Given the description of an element on the screen output the (x, y) to click on. 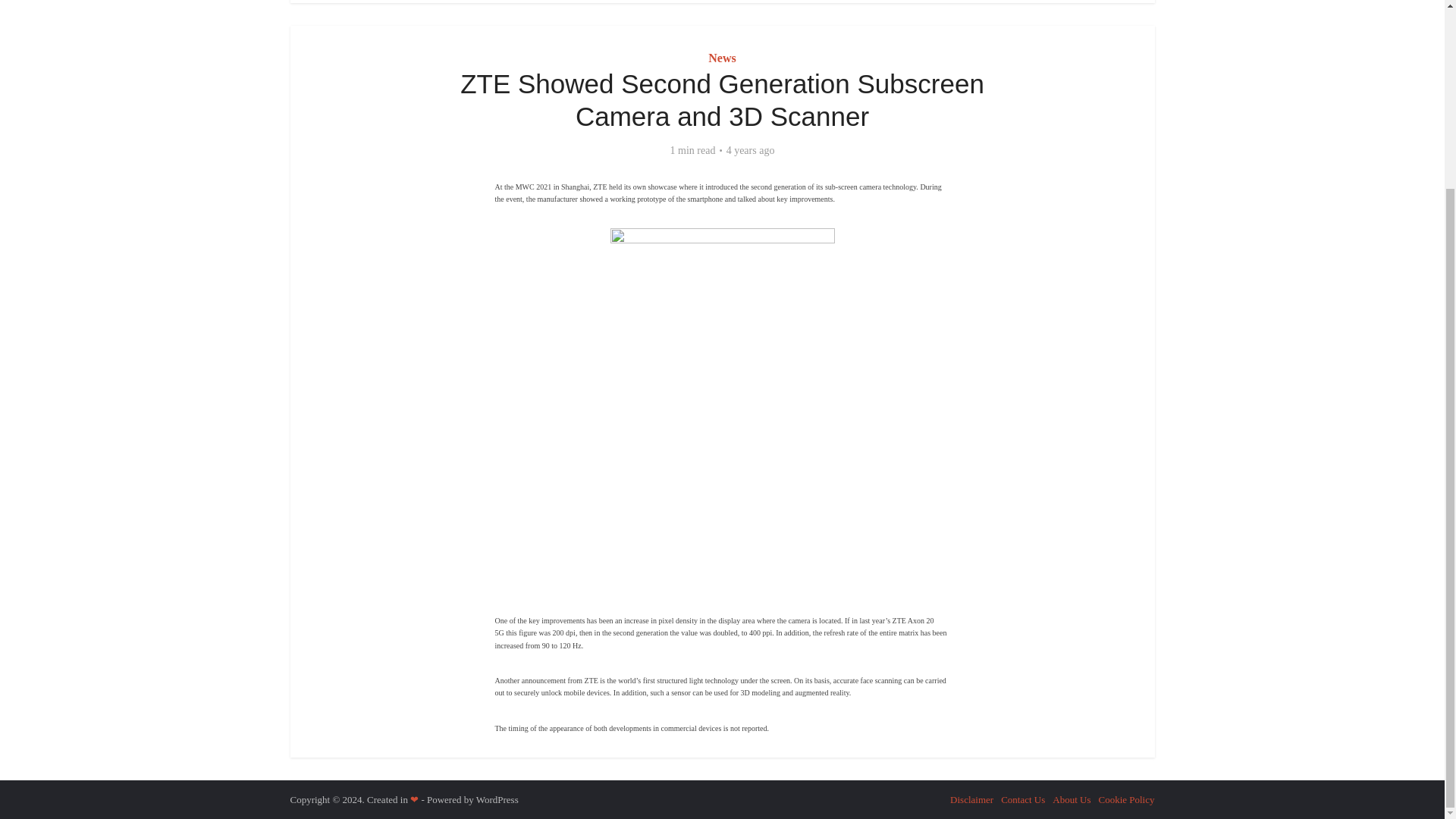
Disclaimer (971, 799)
Contact Us (1023, 799)
About Us (1071, 799)
Cookie Policy (1125, 799)
News (721, 57)
